Given the description of an element on the screen output the (x, y) to click on. 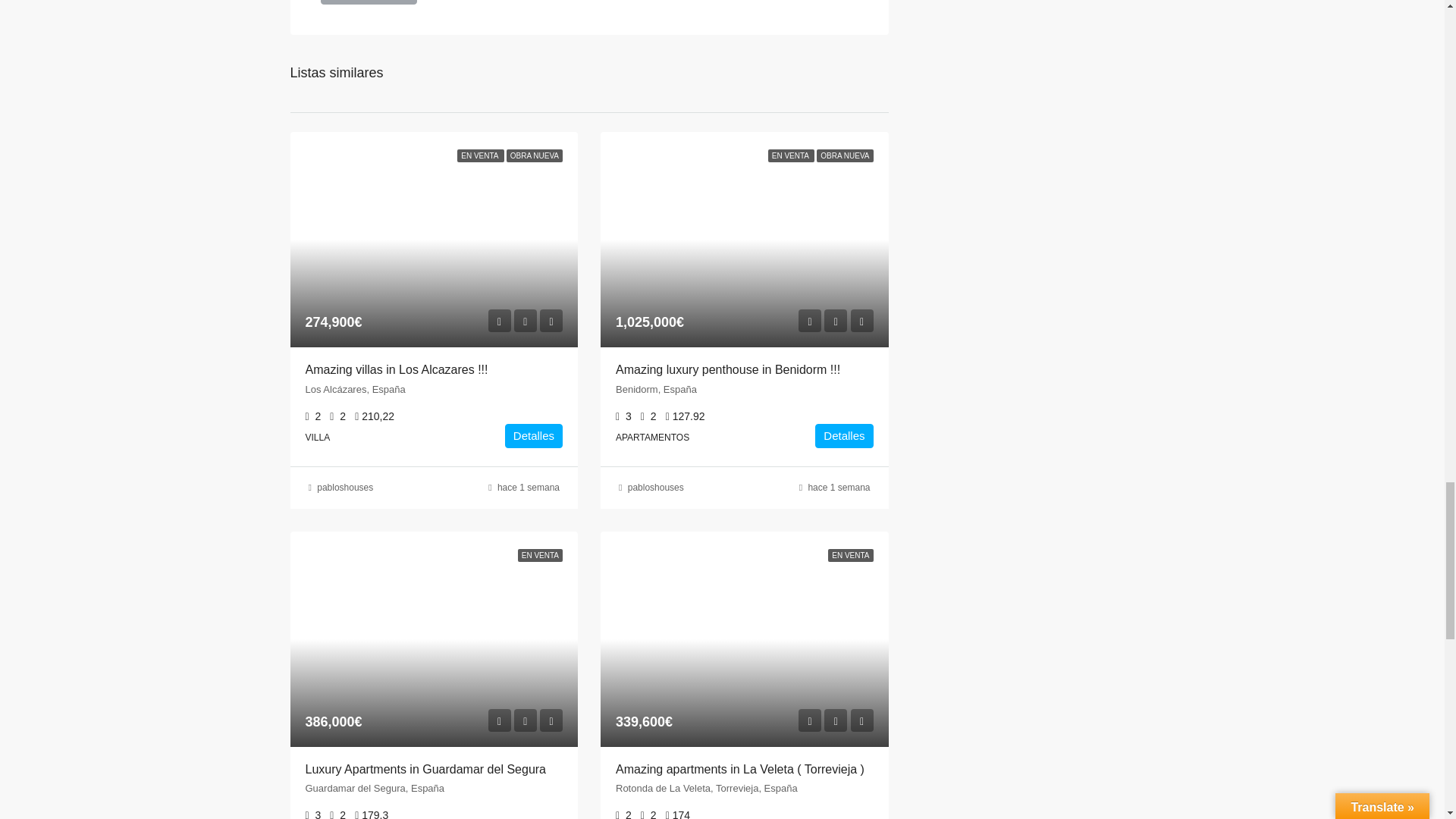
Avance (809, 720)
Favorito (525, 320)
Add to Compare (861, 320)
Favorito (525, 720)
Favorito (835, 320)
Avance (809, 320)
Add to Compare (551, 720)
Add to Compare (551, 320)
Favorito (835, 720)
Avance (499, 320)
Avance (499, 720)
